Given the description of an element on the screen output the (x, y) to click on. 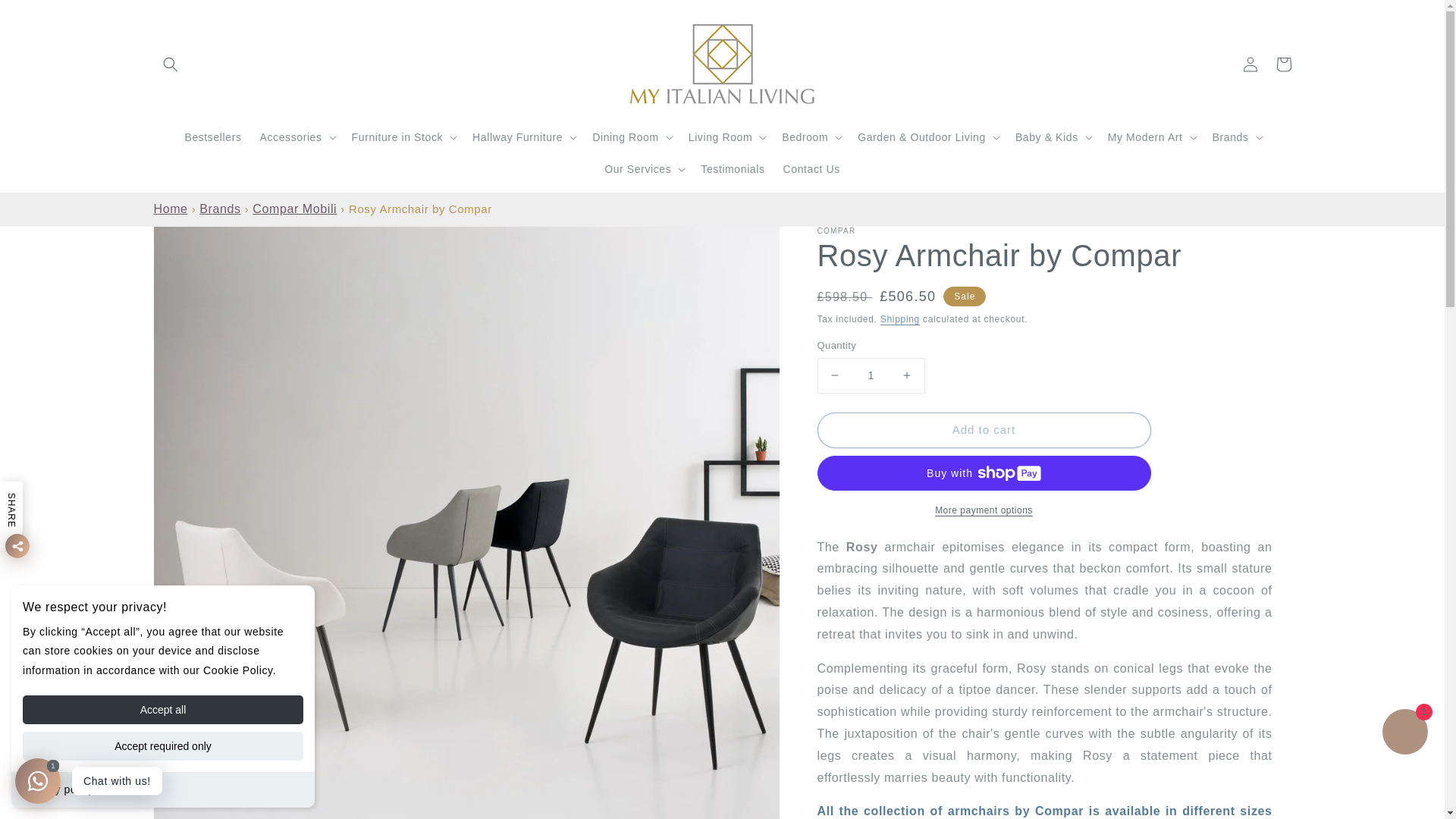
Privacy policy (58, 788)
Compar Mobili (293, 208)
1 (870, 375)
Brands (219, 208)
Accept required only (162, 746)
Accept all (162, 709)
Skip to content (45, 17)
Home (169, 208)
Shopify online store chat (1404, 733)
